Given the description of an element on the screen output the (x, y) to click on. 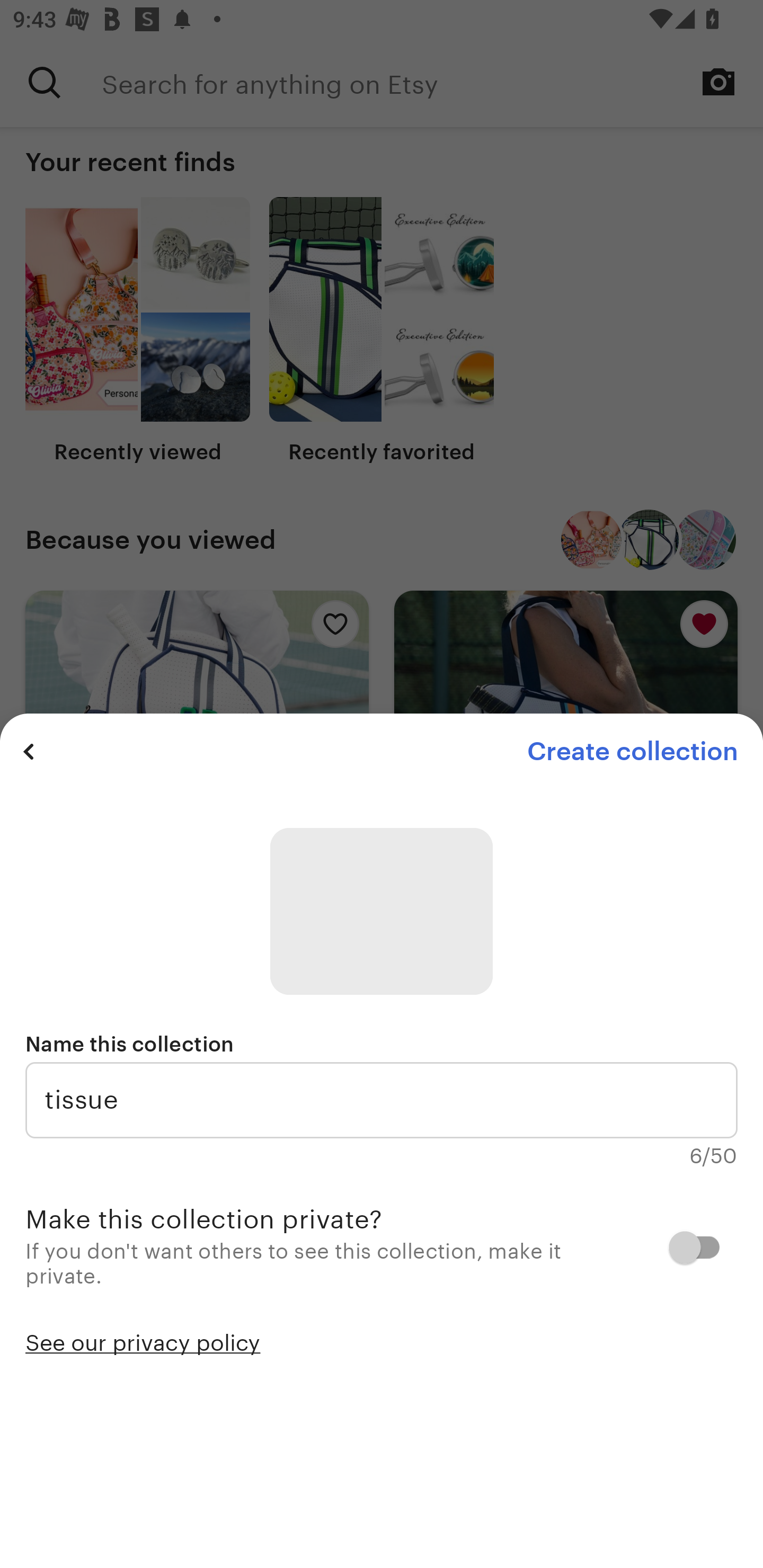
Previous (28, 751)
Create collection (632, 751)
tissue (381, 1099)
See our privacy policy (142, 1341)
